Given the description of an element on the screen output the (x, y) to click on. 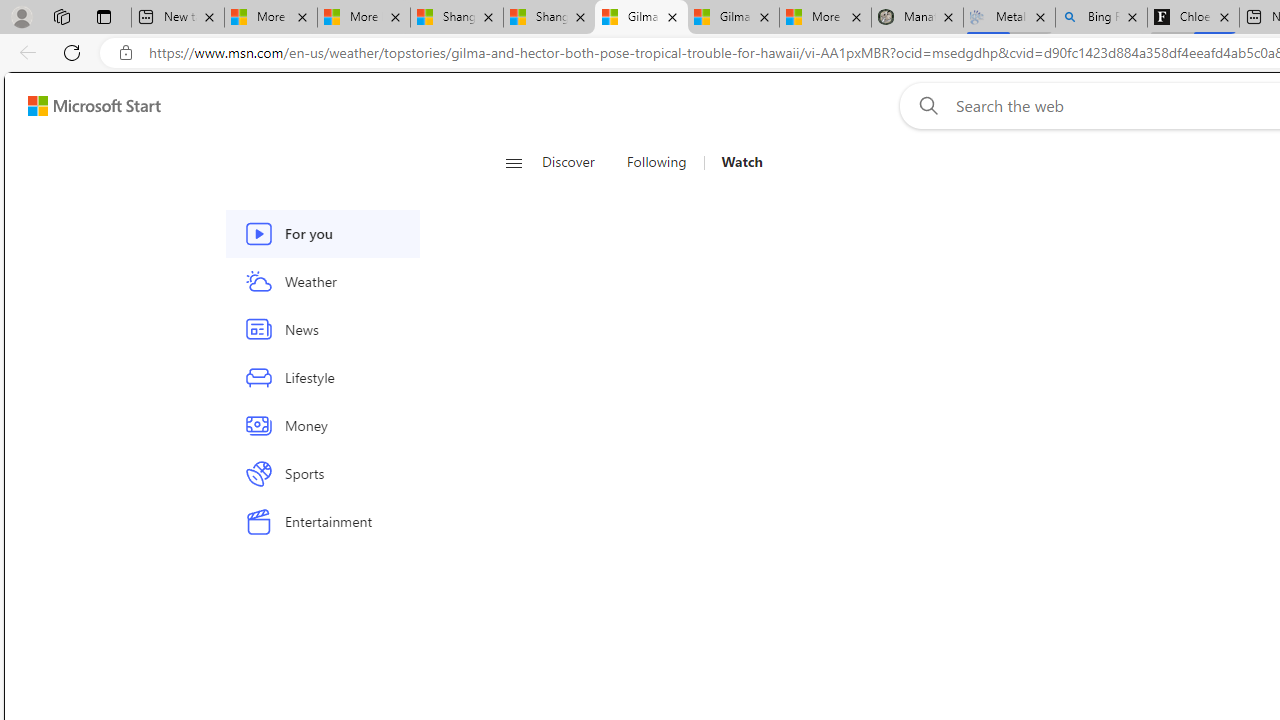
Chloe Sorvino (1193, 17)
Skip to content (86, 105)
Gilma and Hector both pose tropical trouble for Hawaii (733, 17)
Bing Real Estate - Home sales and rental listings (1101, 17)
Class: button-glyph (513, 162)
Watch (734, 162)
Manatee Mortality Statistics | FWC (916, 17)
Open navigation menu (513, 162)
